Given the description of an element on the screen output the (x, y) to click on. 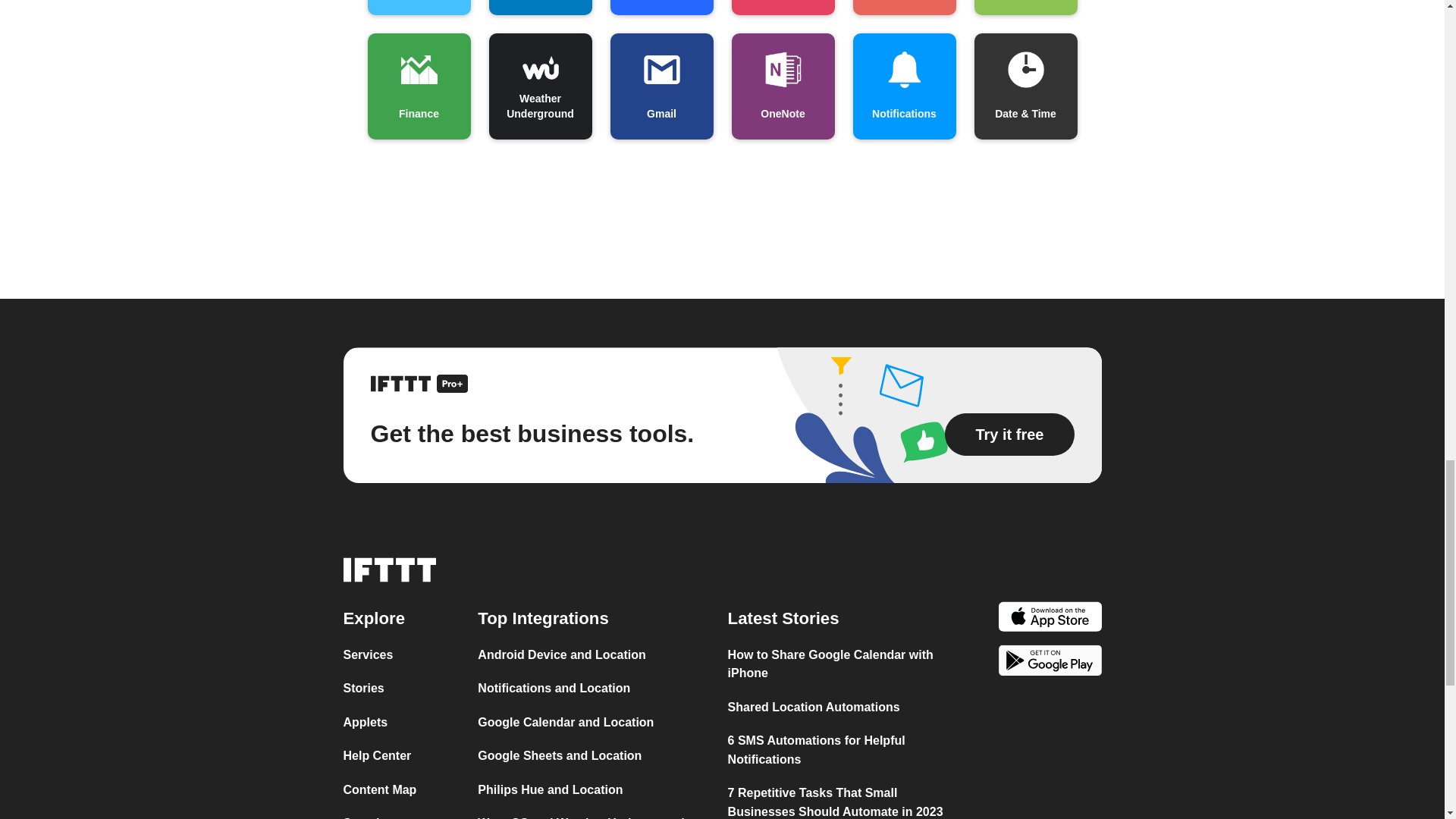
Trello (539, 7)
Instagram (782, 7)
Finance (418, 86)
iOS Photos (903, 7)
Android Device (1025, 7)
Day One (418, 7)
VoIP Calls (661, 7)
